Given the description of an element on the screen output the (x, y) to click on. 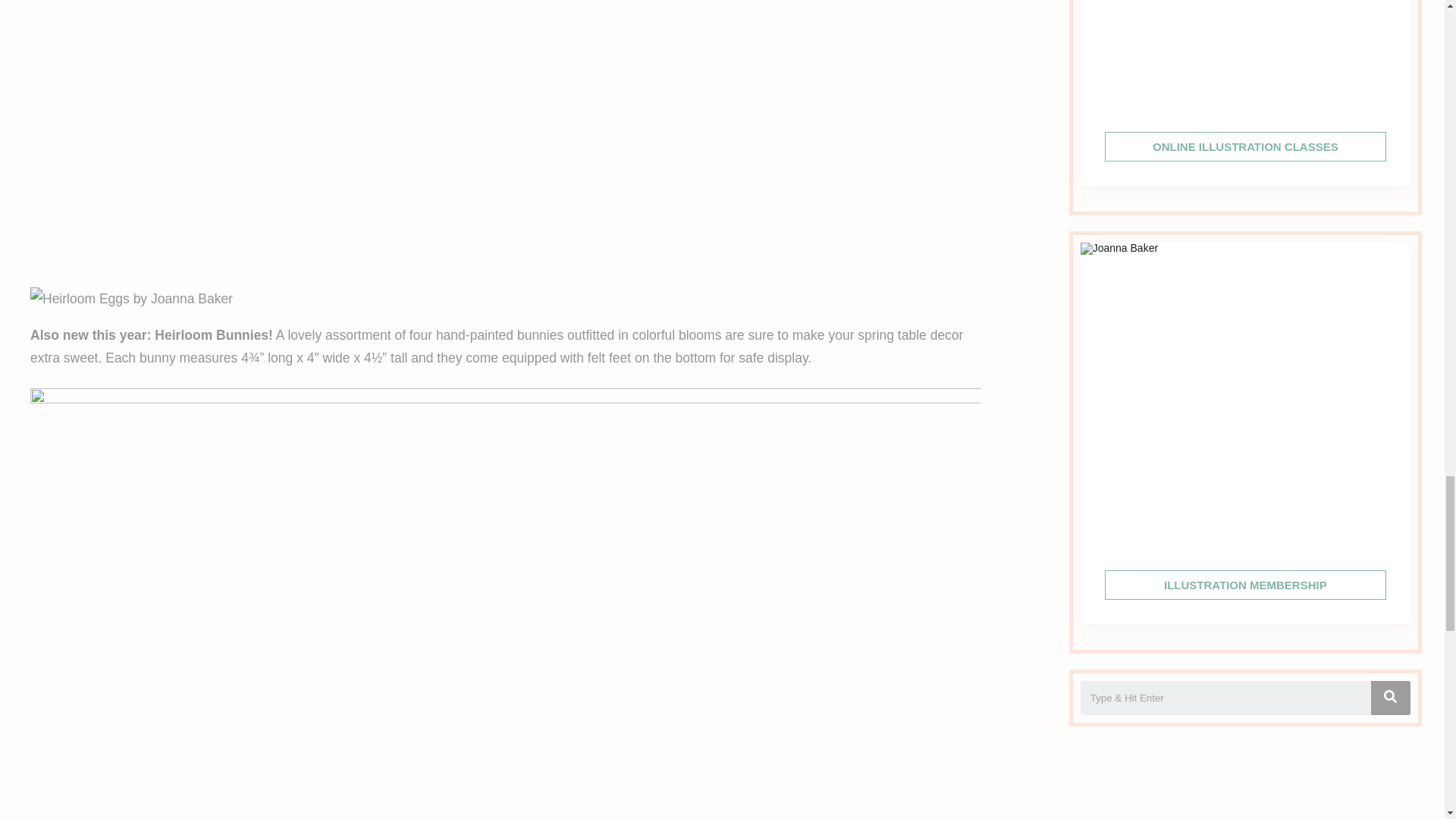
Search (1225, 697)
